Given the description of an element on the screen output the (x, y) to click on. 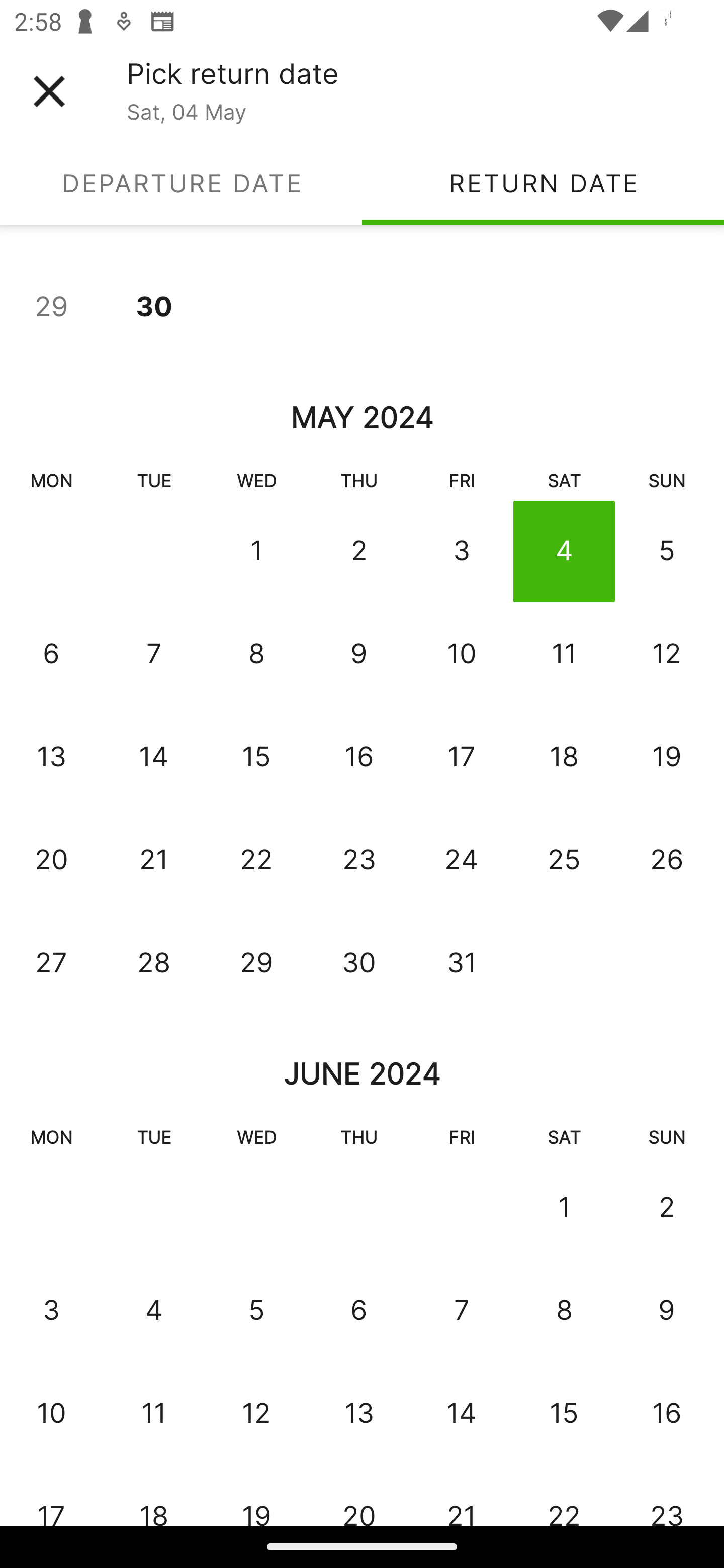
Departure Date DEPARTURE DATE (181, 183)
